Given the description of an element on the screen output the (x, y) to click on. 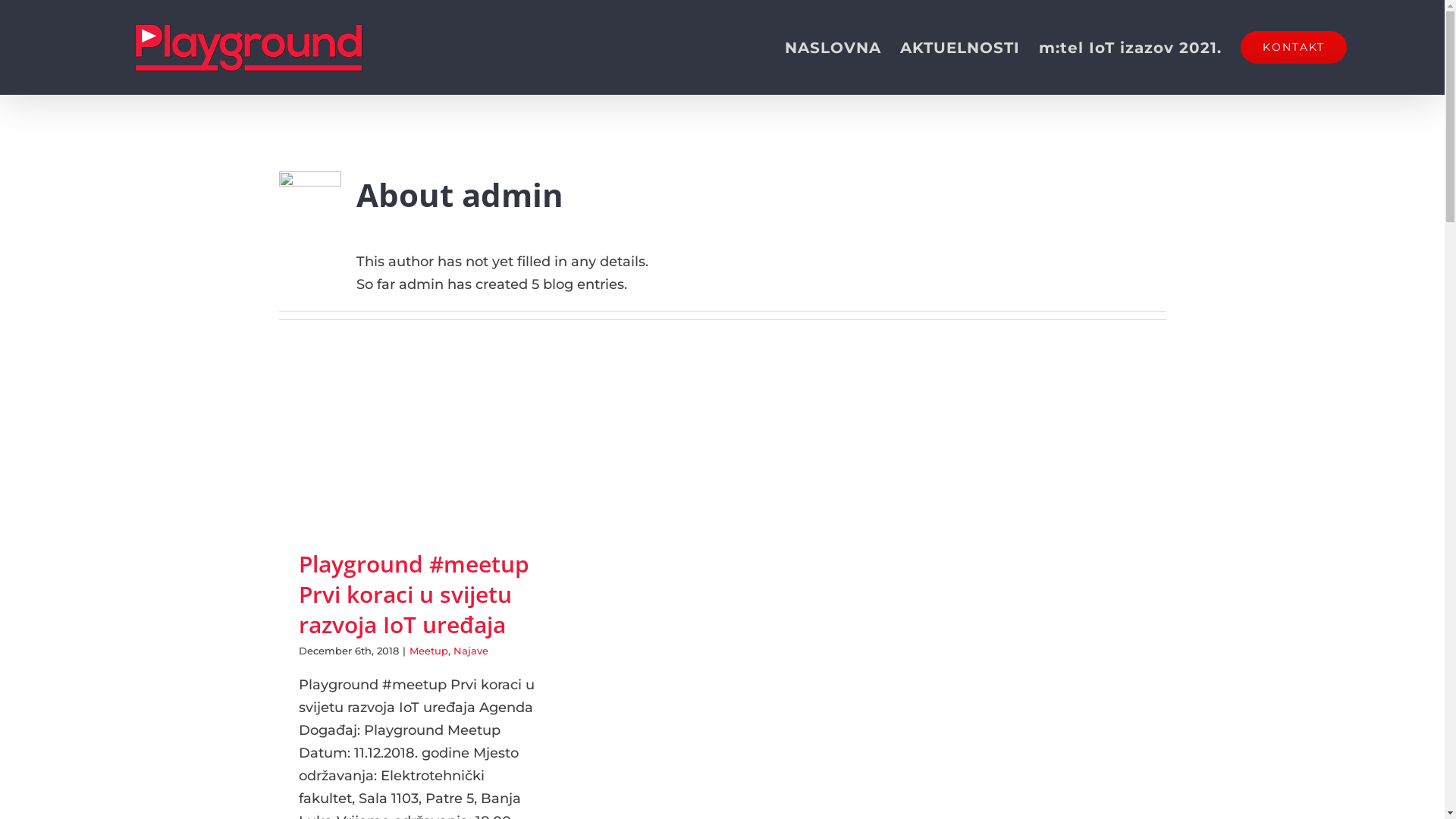
NASLOVNA Element type: text (832, 47)
Meetup Element type: text (428, 650)
m:tel IoT izazov 2021. Element type: text (1129, 47)
Najave Element type: text (470, 650)
AKTUELNOSTI Element type: text (959, 47)
KONTAKT Element type: text (1293, 47)
